Given the description of an element on the screen output the (x, y) to click on. 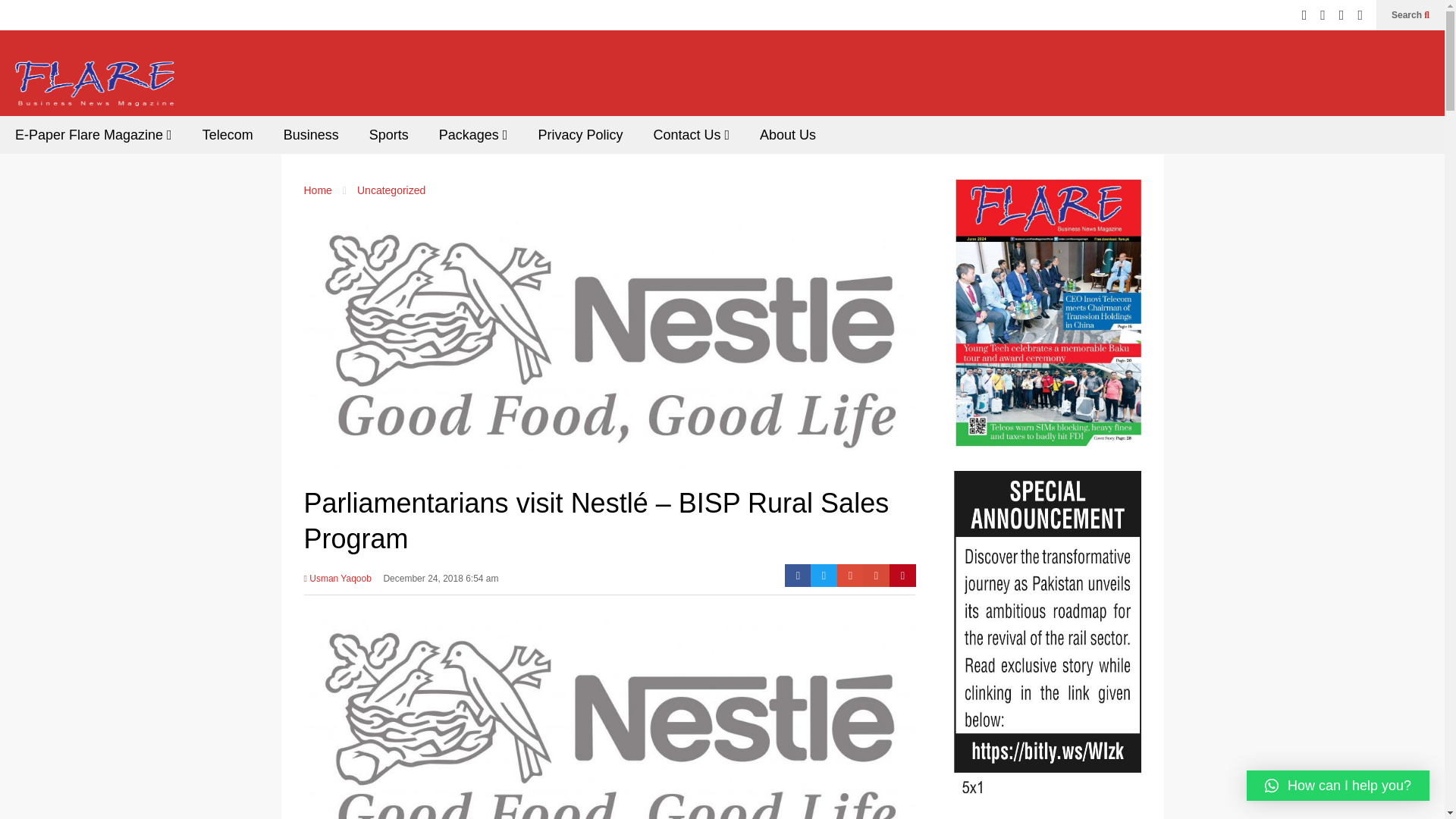
Technology and Business News from Pakistan (94, 88)
E-mail (876, 575)
Facebook (797, 575)
E-Paper Flare Magazine (93, 134)
Search (1410, 15)
Twitter (823, 575)
Google-plus (850, 575)
Pinterest (902, 575)
